Given the description of an element on the screen output the (x, y) to click on. 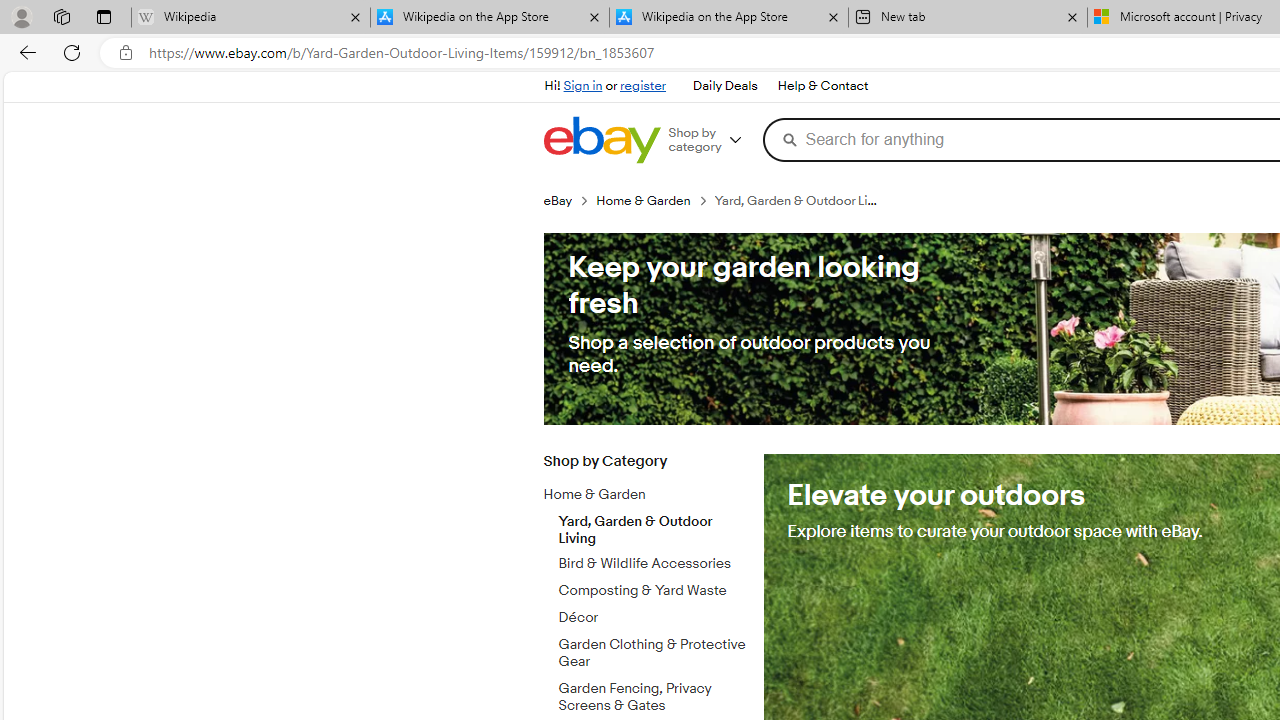
Home & Garden (653, 491)
Garden Fencing, Privacy Screens & Gates (653, 693)
eBay Home (601, 139)
eBay (569, 200)
Help & Contact (822, 86)
Bird & Wildlife Accessories (653, 564)
Shop by category (711, 140)
Daily Deals (724, 85)
Garden Fencing, Privacy Screens & Gates (653, 697)
